Given the description of an element on the screen output the (x, y) to click on. 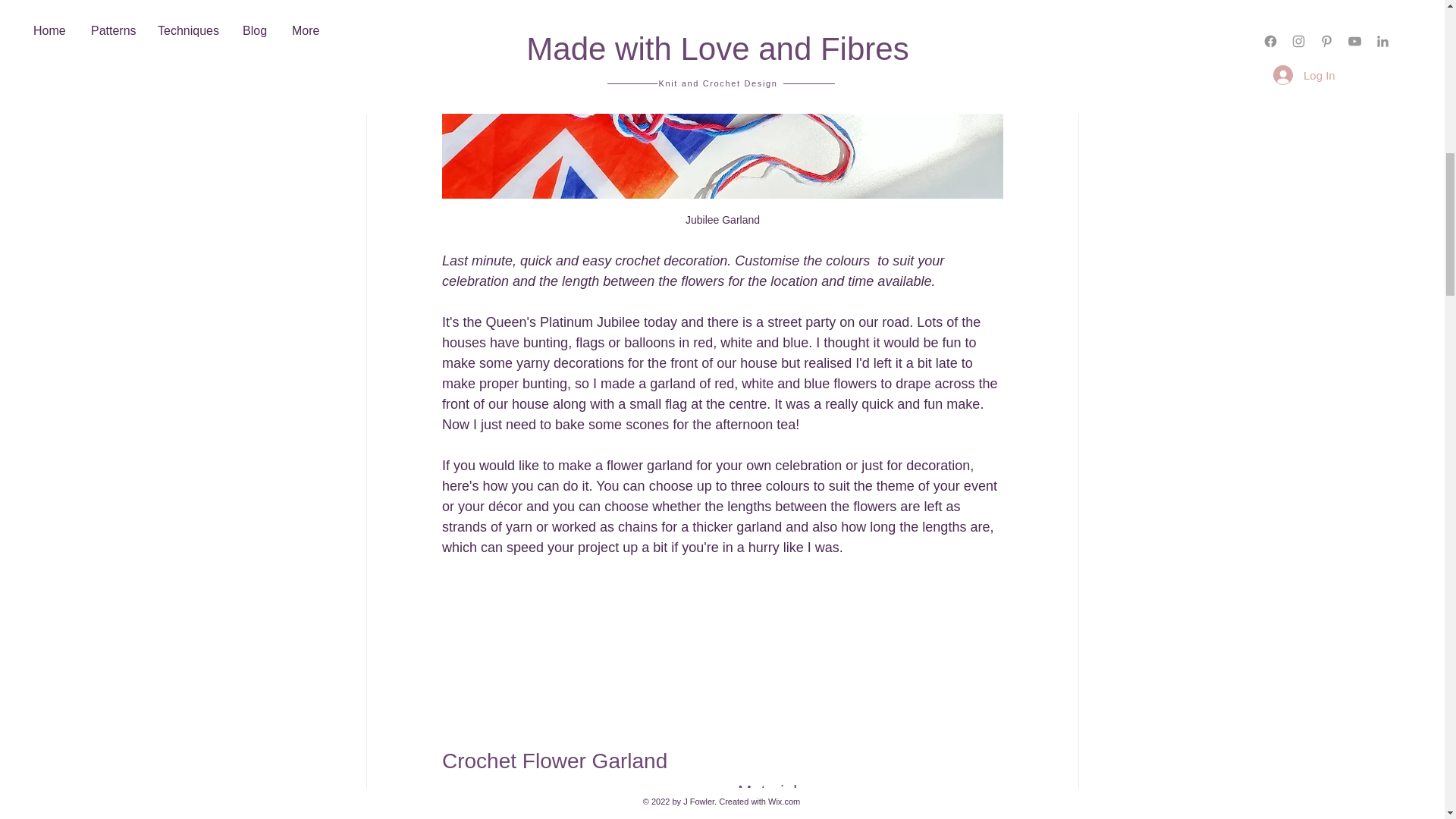
remote content (722, 651)
